Given the description of an element on the screen output the (x, y) to click on. 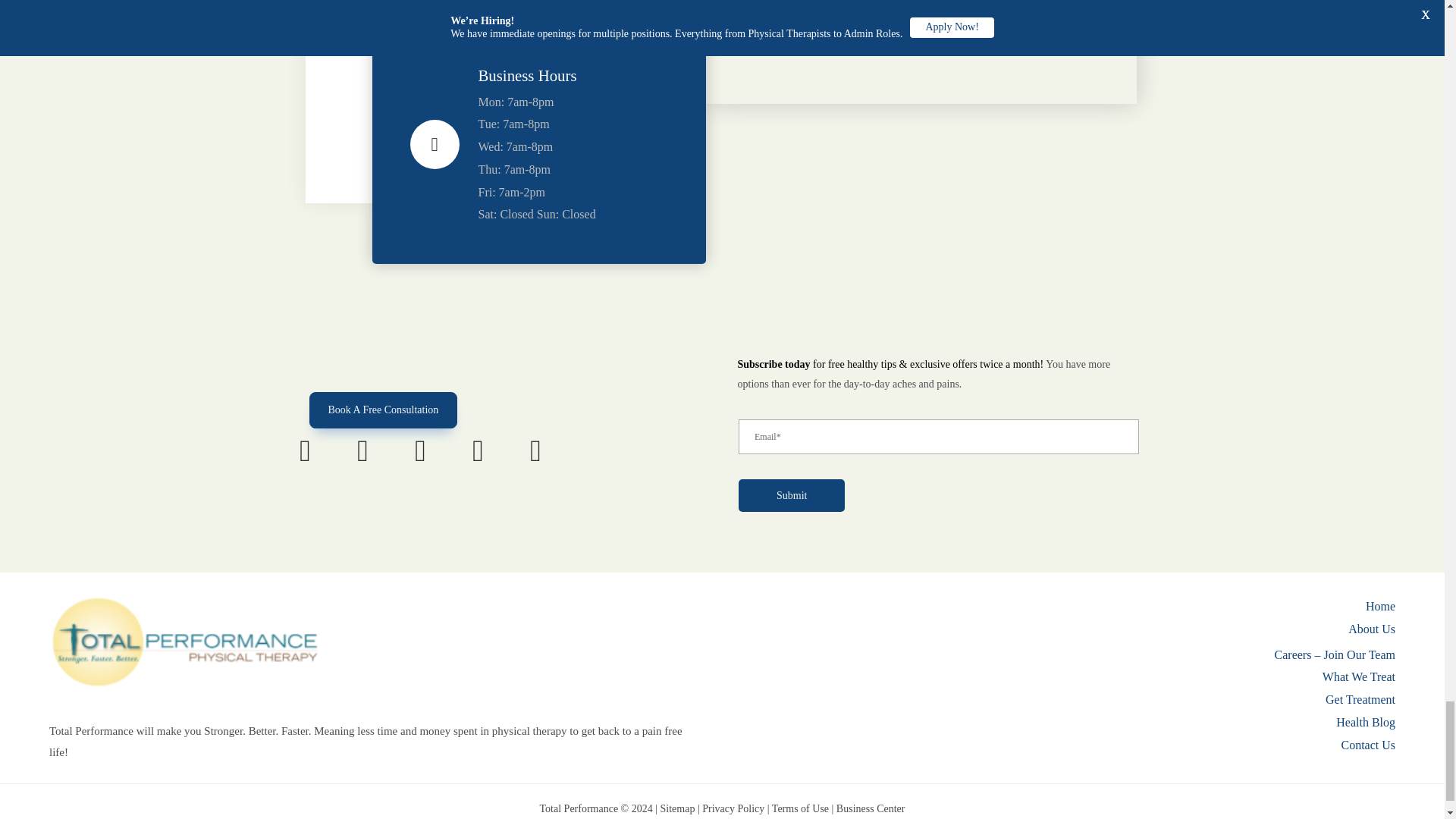
Z - Total Performance Website Form - Newsletter Subscribe (937, 478)
